Given the description of an element on the screen output the (x, y) to click on. 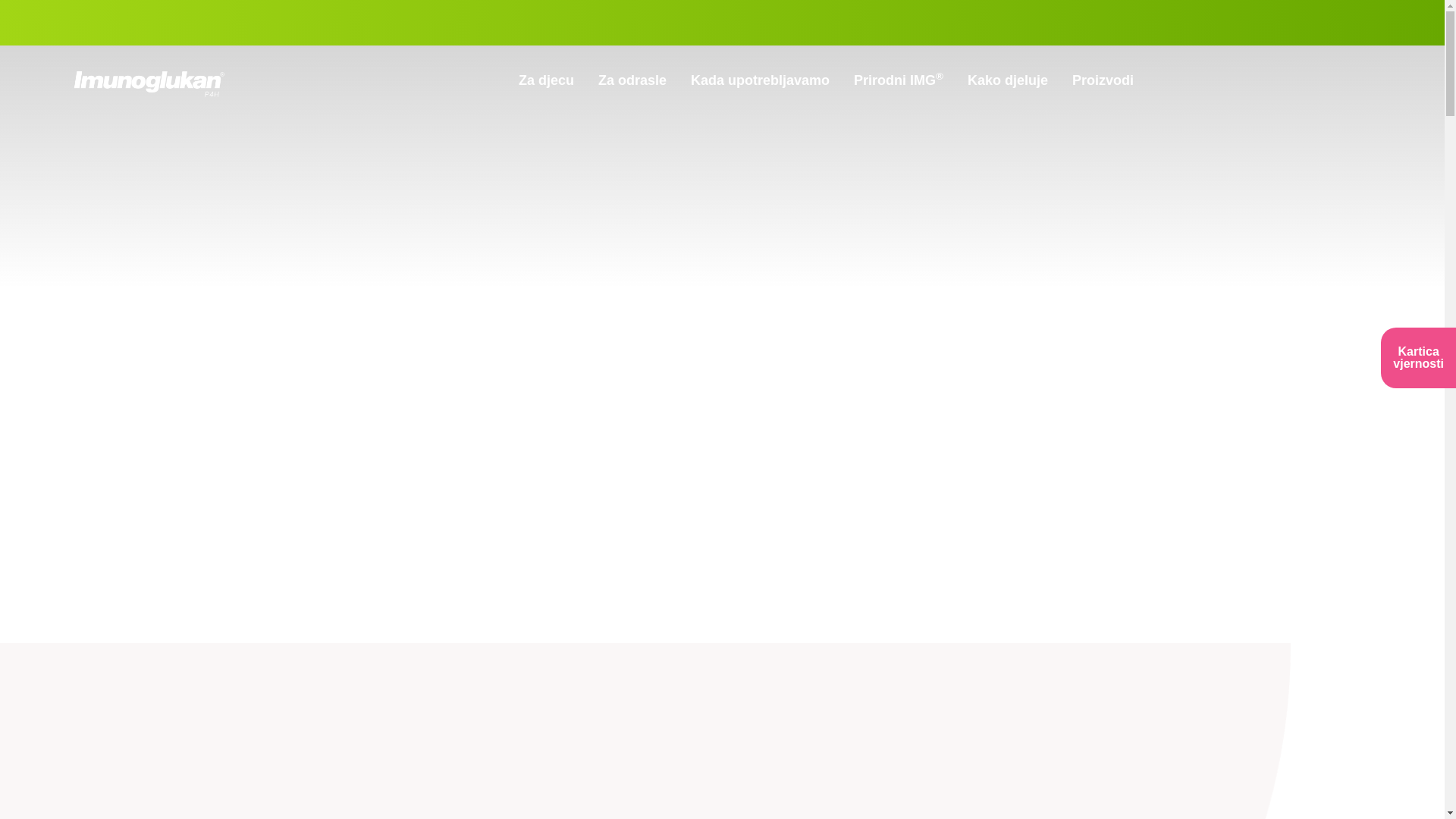
Za djecu Element type: text (546, 80)
Kada upotrebljavamo Element type: text (759, 80)
Kako djeluje Element type: text (1007, 80)
Za odrasle Element type: text (632, 80)
Proizvodi Element type: text (1102, 80)
